Given the description of an element on the screen output the (x, y) to click on. 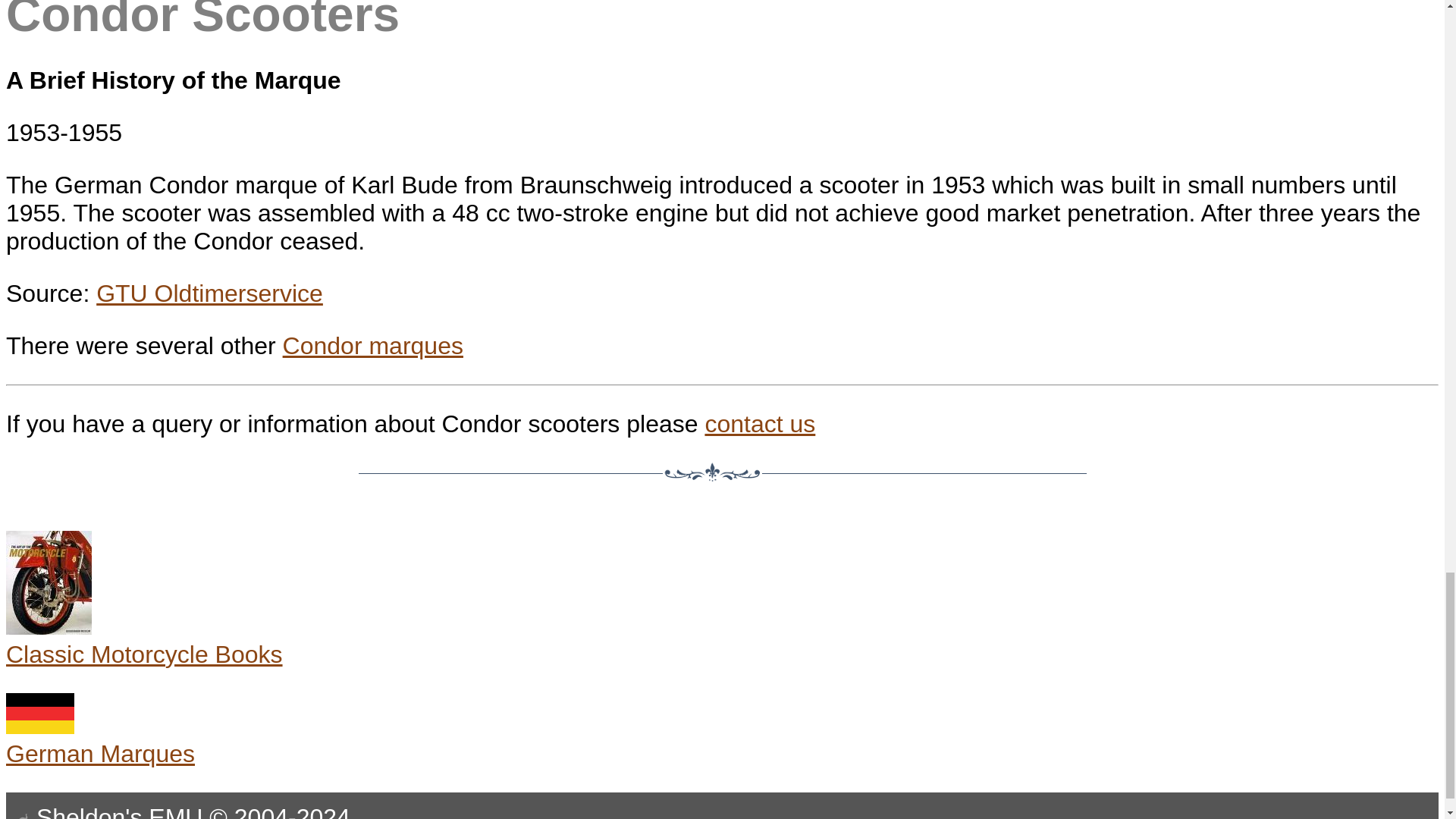
Similar Names (372, 345)
